Given the description of an element on the screen output the (x, y) to click on. 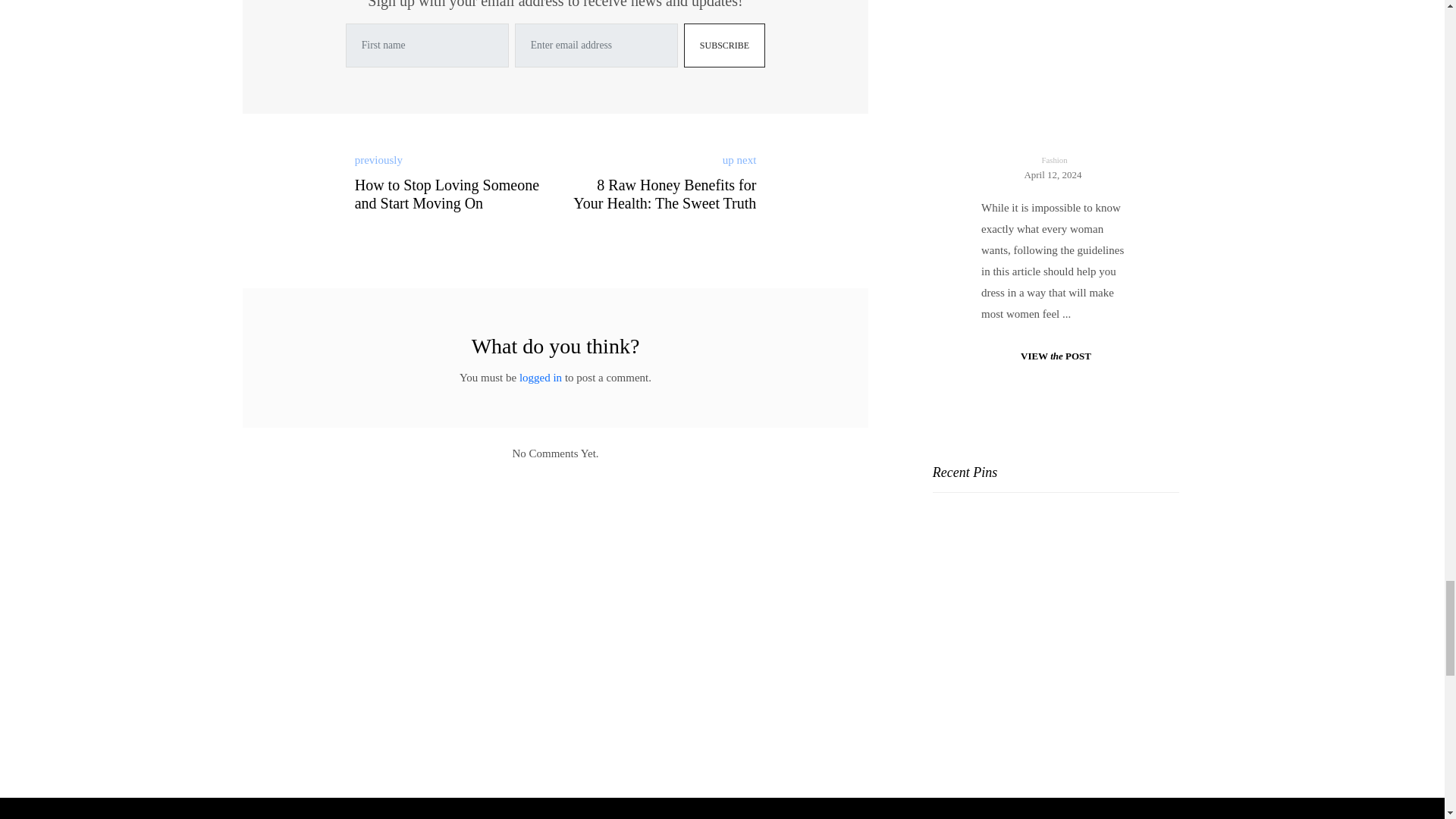
Subscribe (724, 45)
